Given the description of an element on the screen output the (x, y) to click on. 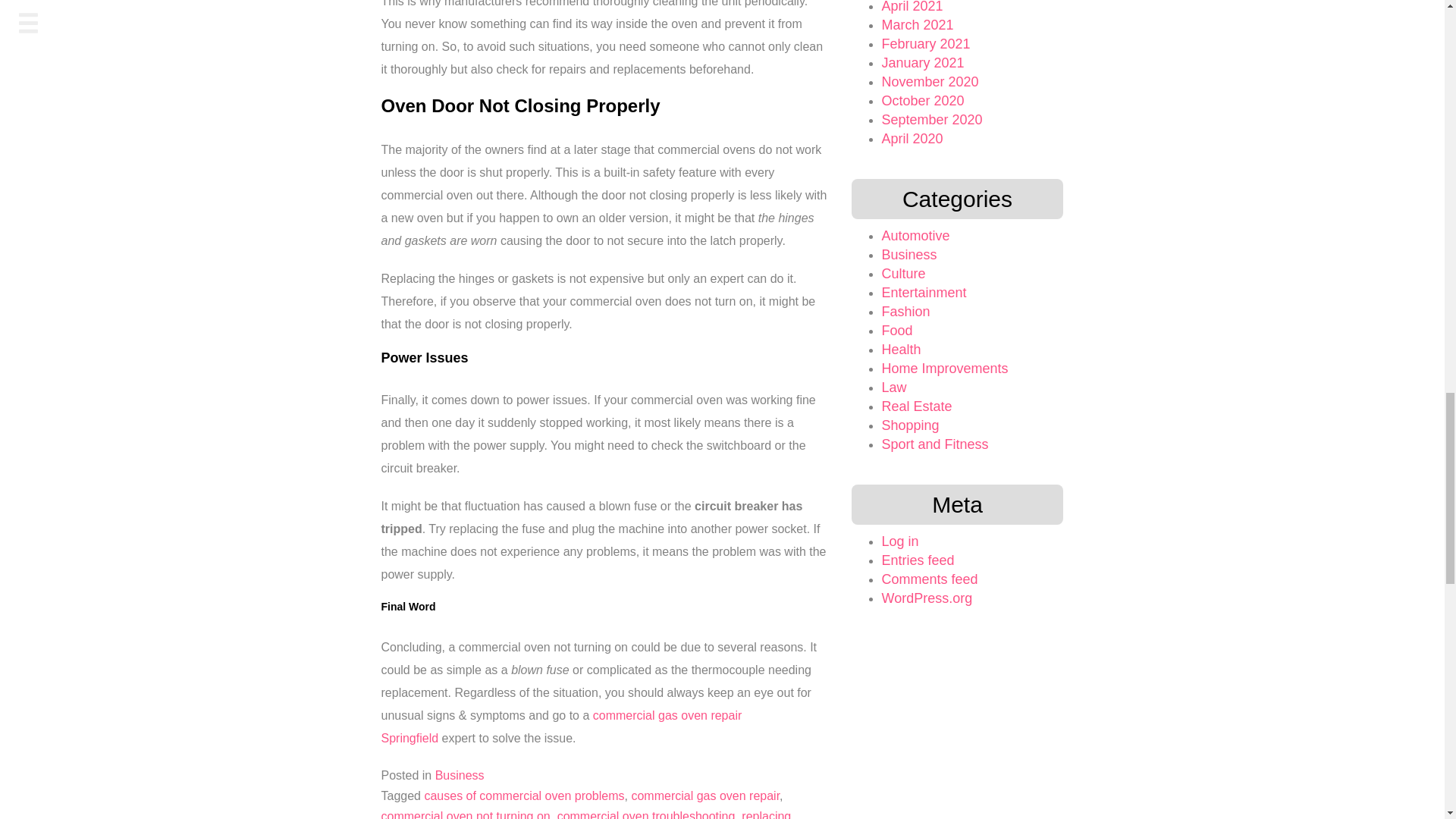
commercial gas oven repair Springfield (560, 726)
commercial gas oven repair (704, 795)
replacing commercial oven thermostat (585, 814)
commercial oven not turning on (465, 814)
commercial oven troubleshooting (646, 814)
causes of commercial oven problems (523, 795)
Business (459, 775)
